Given the description of an element on the screen output the (x, y) to click on. 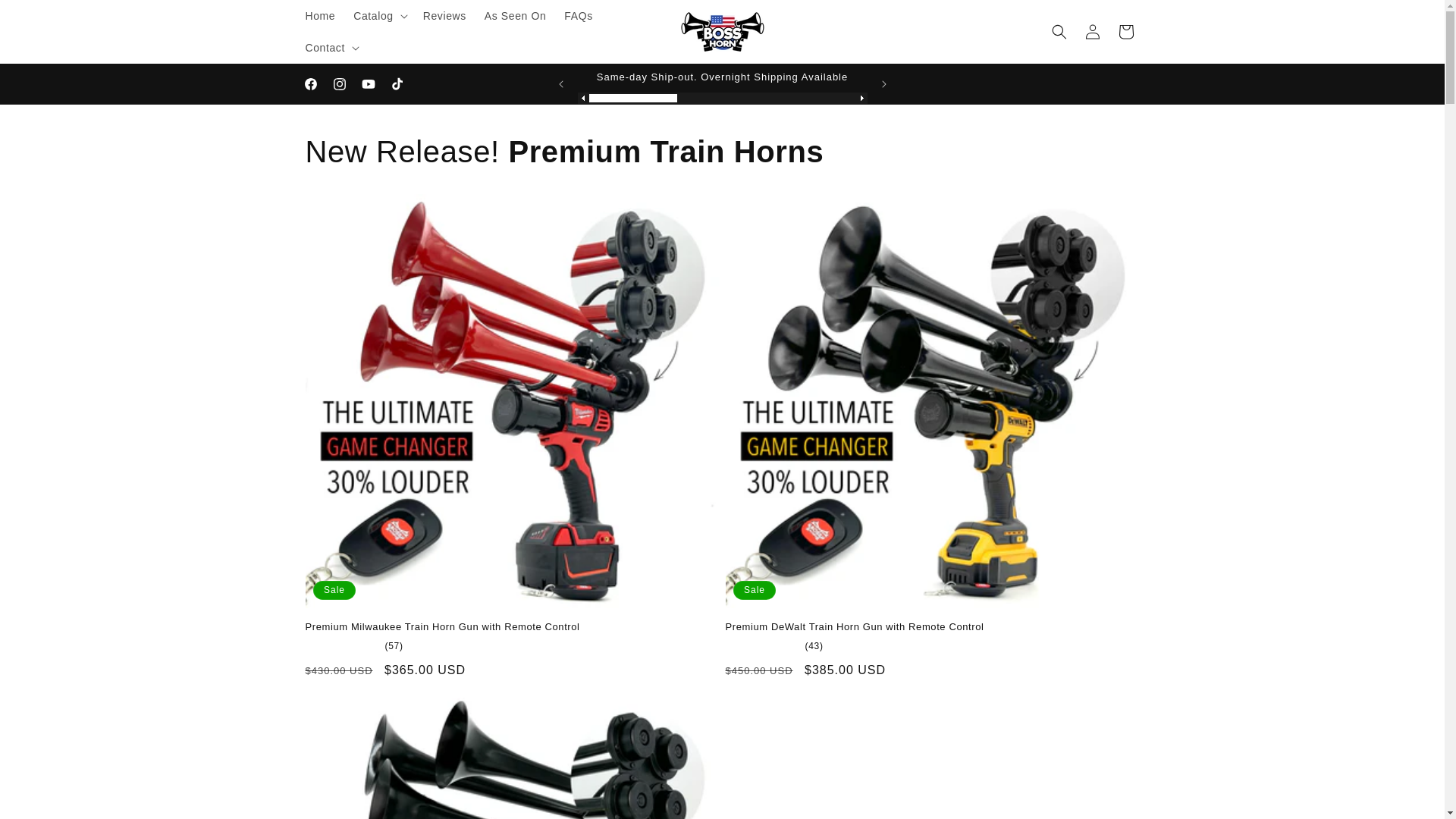
Home (319, 15)
Skip to content (47, 18)
Reviews (444, 15)
As Seen On (516, 15)
